Given the description of an element on the screen output the (x, y) to click on. 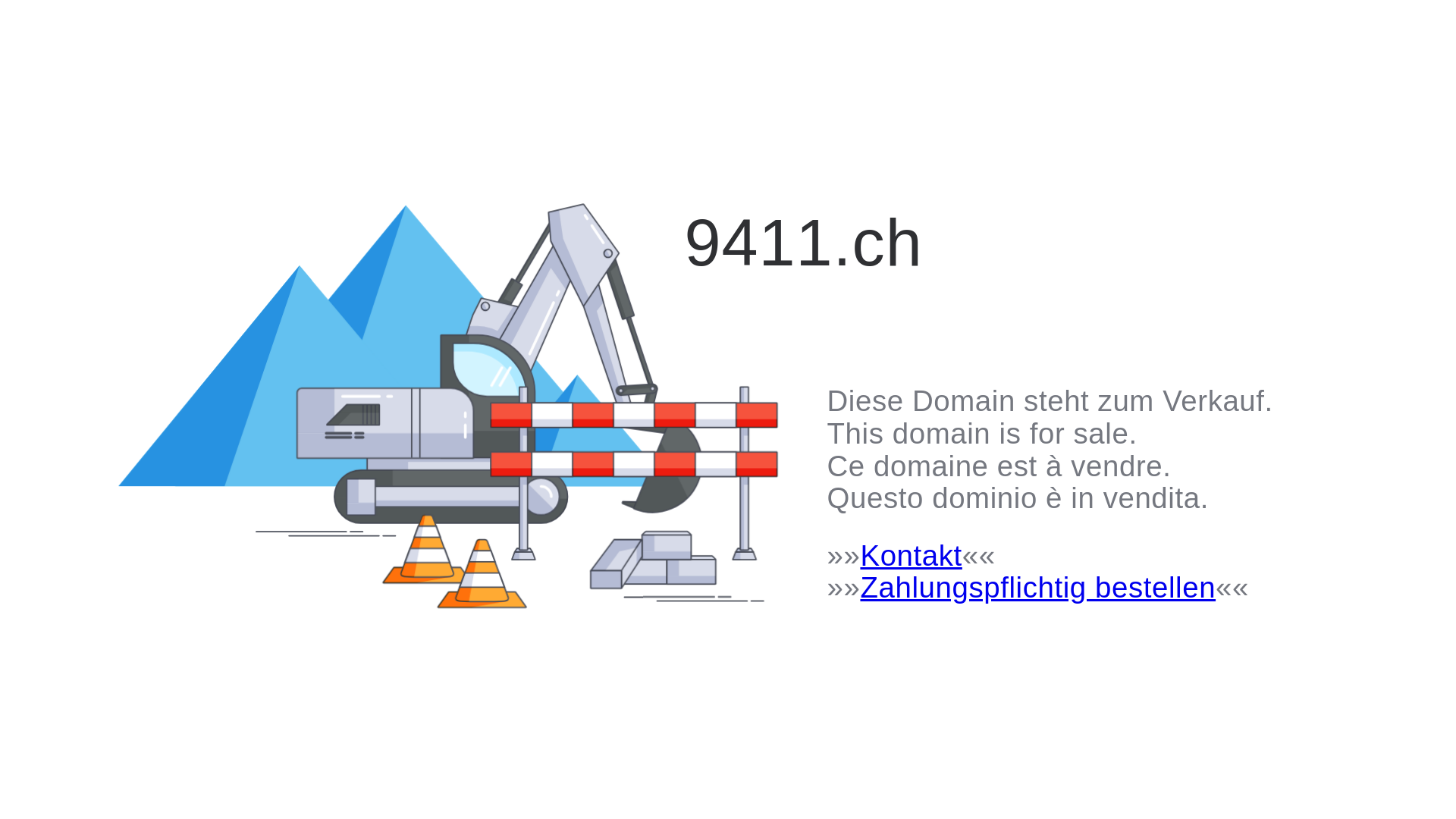
Zahlungspflichtig bestellen Element type: text (1037, 587)
Kontakt Element type: text (910, 554)
